Given the description of an element on the screen output the (x, y) to click on. 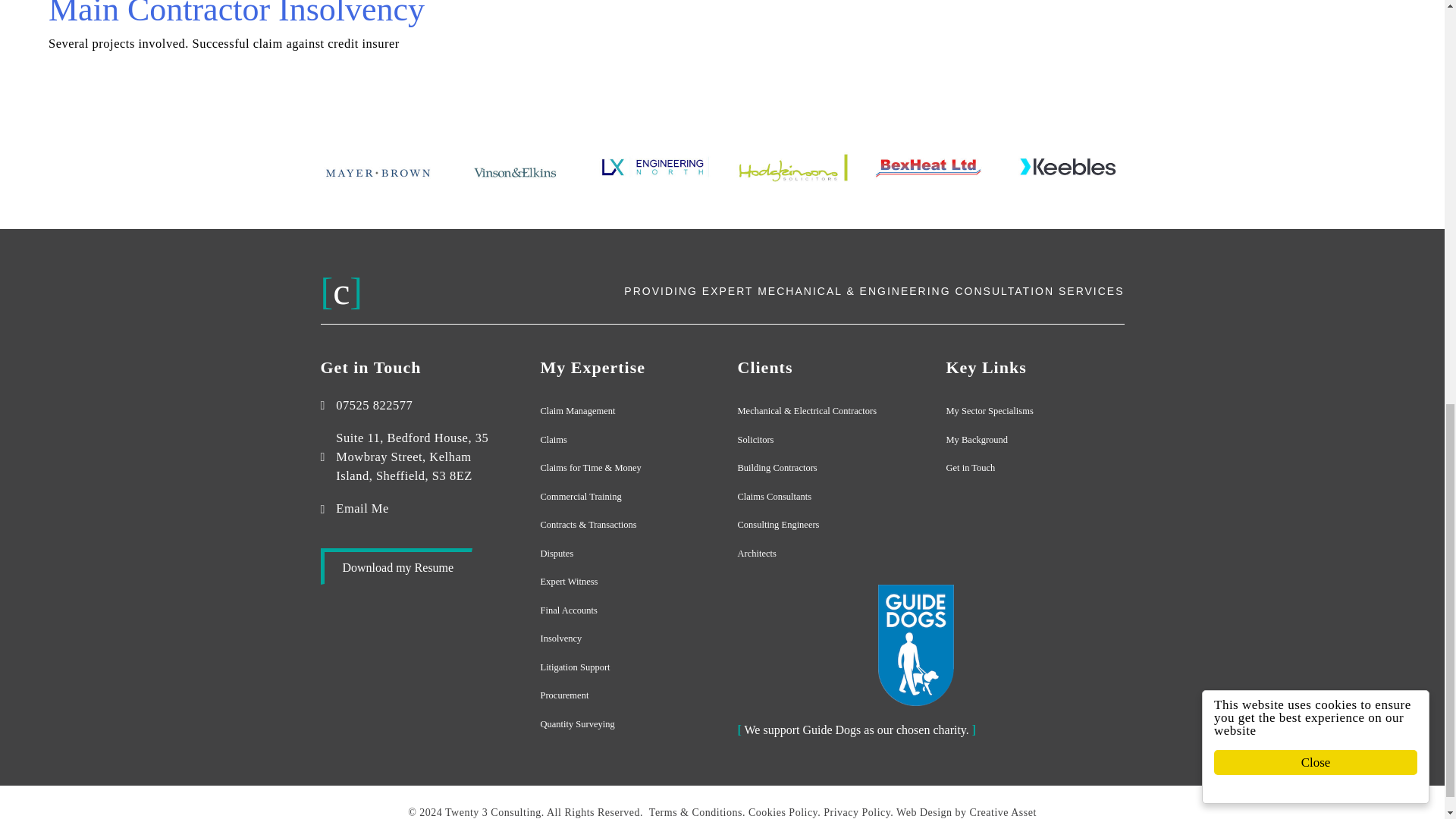
twenty3consulting Hodgkinsons Logo (790, 166)
twenty3consulting Mayer Brown Logo (377, 172)
twenty3consulting BexHeat Ltd Logo (928, 166)
twenty3consulting LX Engineering Logo (653, 166)
